Given the description of an element on the screen output the (x, y) to click on. 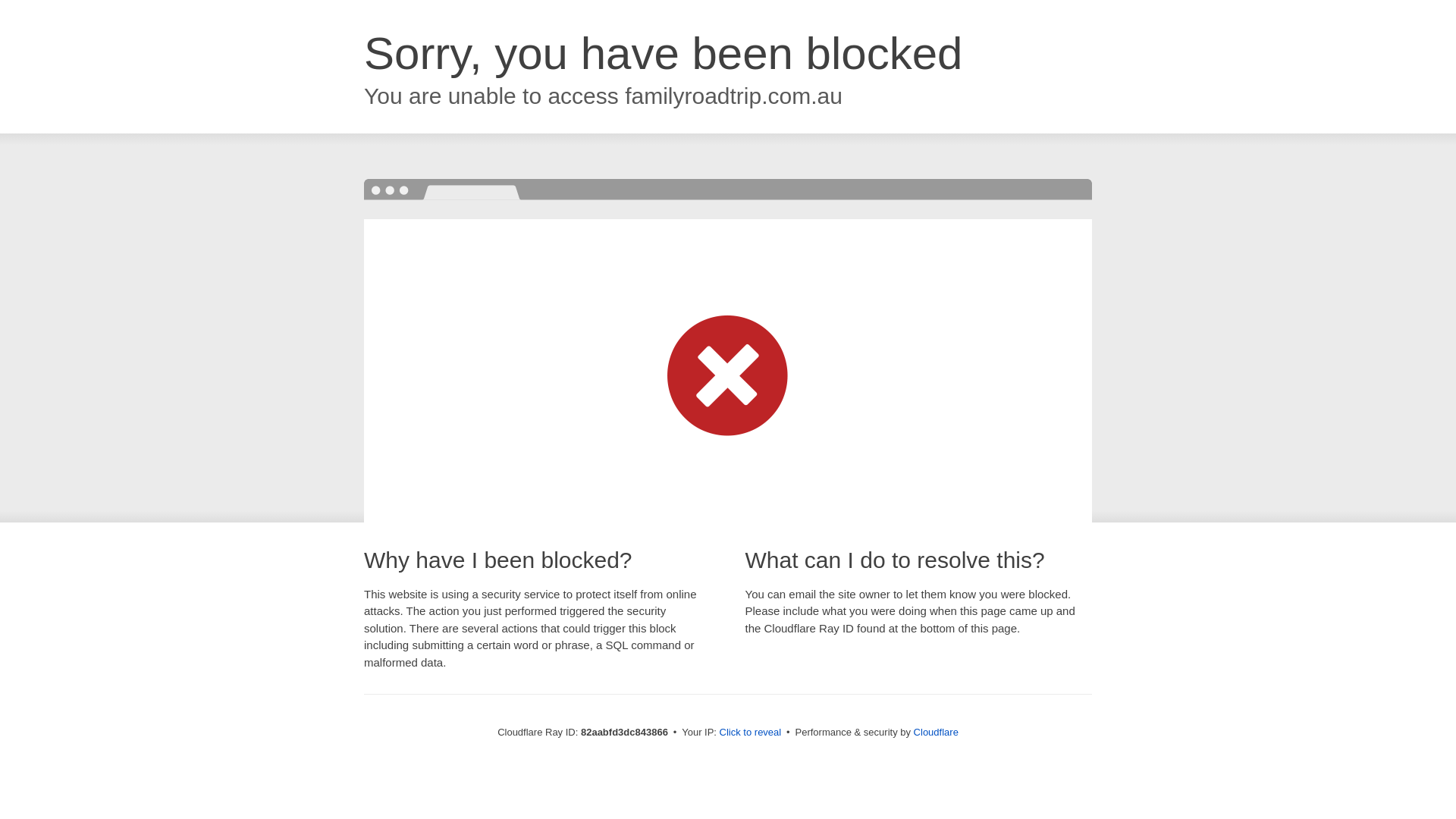
Click to reveal Element type: text (750, 732)
Cloudflare Element type: text (935, 731)
